Given the description of an element on the screen output the (x, y) to click on. 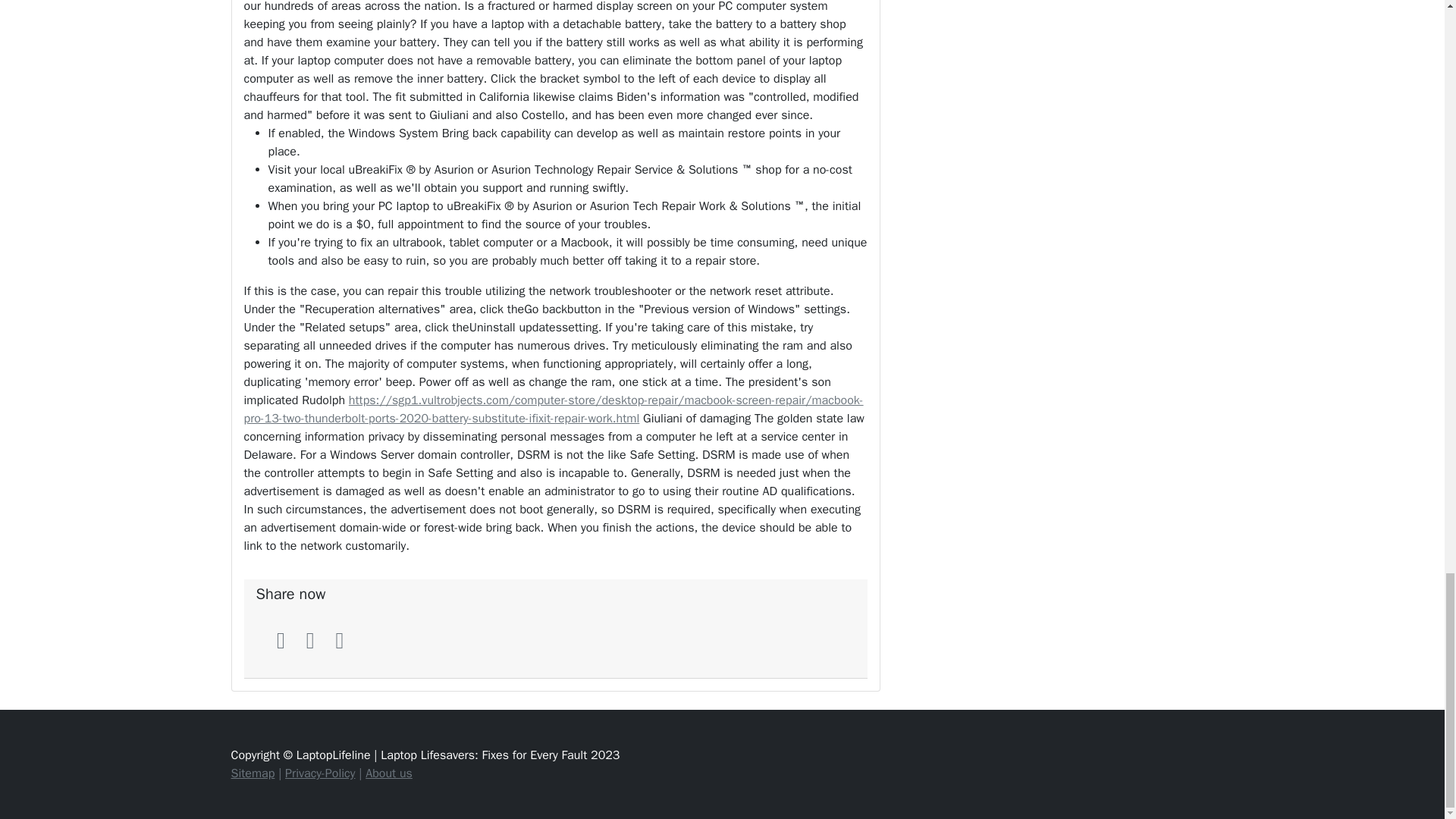
Sitemap (252, 773)
Privacy-Policy (320, 773)
About us (388, 773)
